Given the description of an element on the screen output the (x, y) to click on. 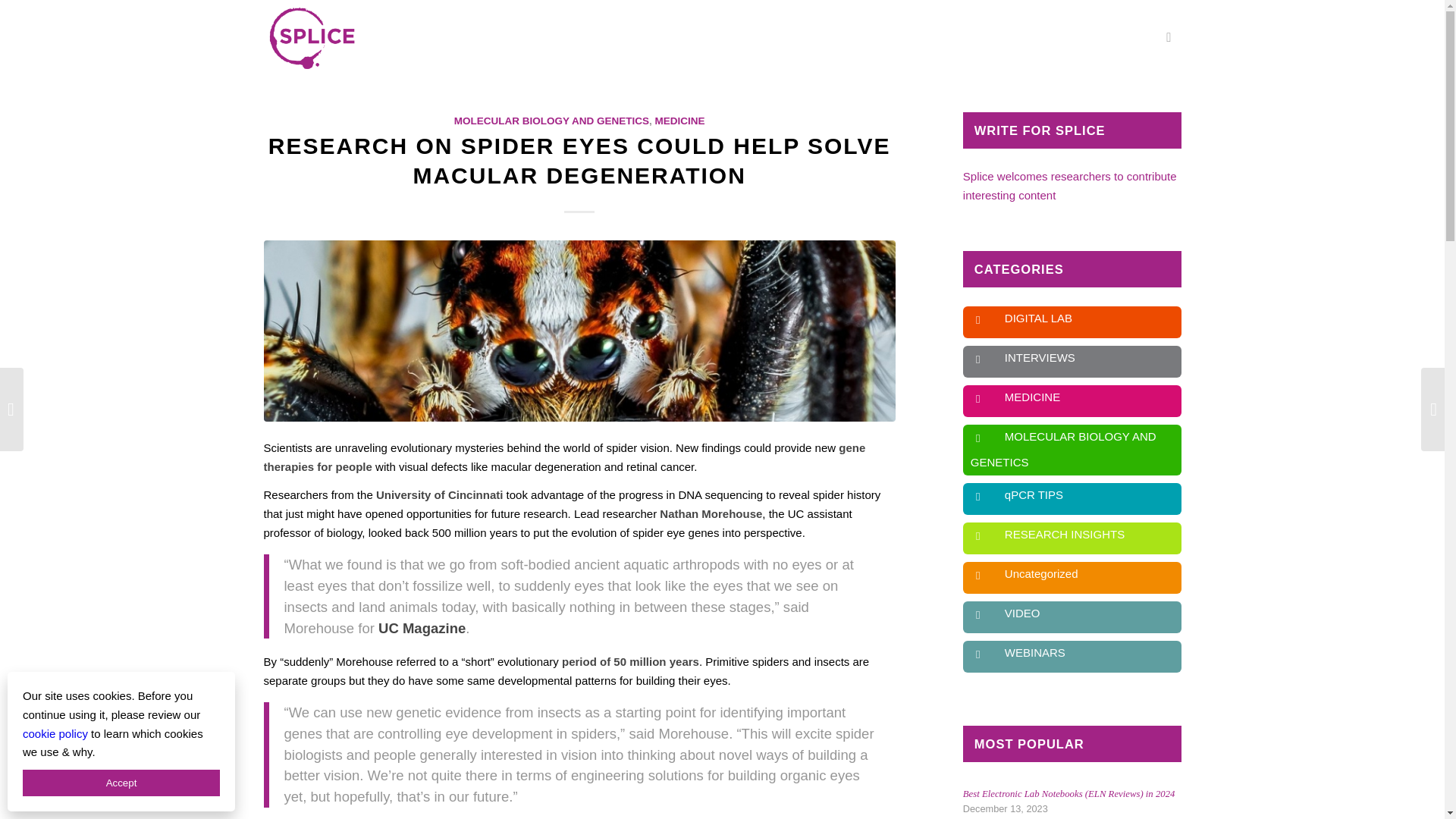
MOLECULAR BIOLOGY AND GENETICS (551, 120)
University of Cincinnati (439, 494)
UC Magazine (421, 627)
jumping spider eyes (579, 330)
Nathan Morehouse (710, 513)
MEDICINE (679, 120)
